Given the description of an element on the screen output the (x, y) to click on. 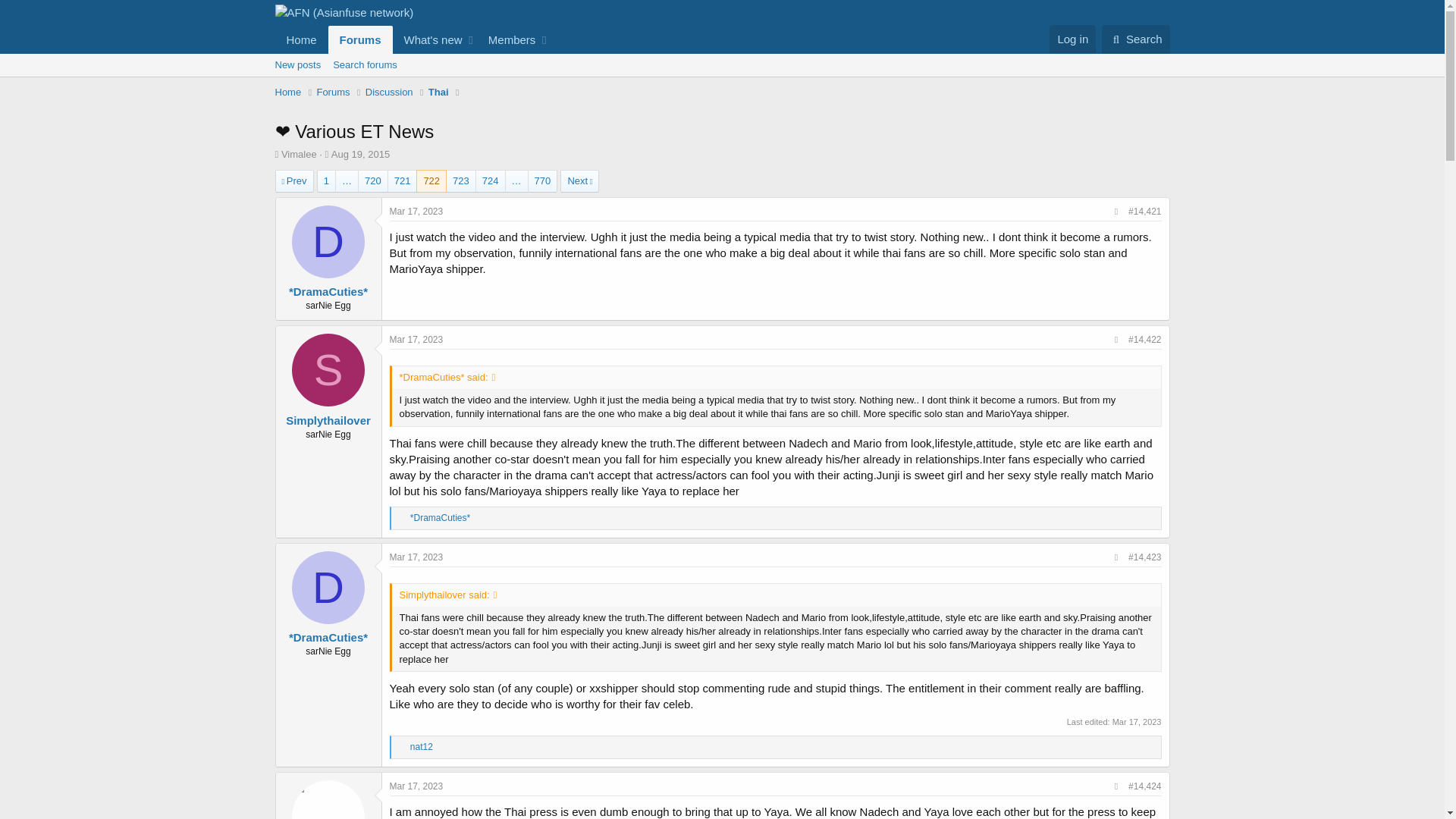
722 (430, 180)
Mar 17, 2023 at 2:27 AM (417, 339)
Vimalee (299, 153)
Mar 17, 2023 at 5:36 PM (1136, 721)
Search (1136, 39)
Thai (438, 92)
Home (301, 39)
Discussion (411, 39)
Mar 17, 2023 at 4:14 AM (389, 92)
Like (417, 557)
Like (401, 518)
720 (401, 747)
What's new (372, 180)
Mar 17, 2023 at 12:15 AM (429, 39)
